Given the description of an element on the screen output the (x, y) to click on. 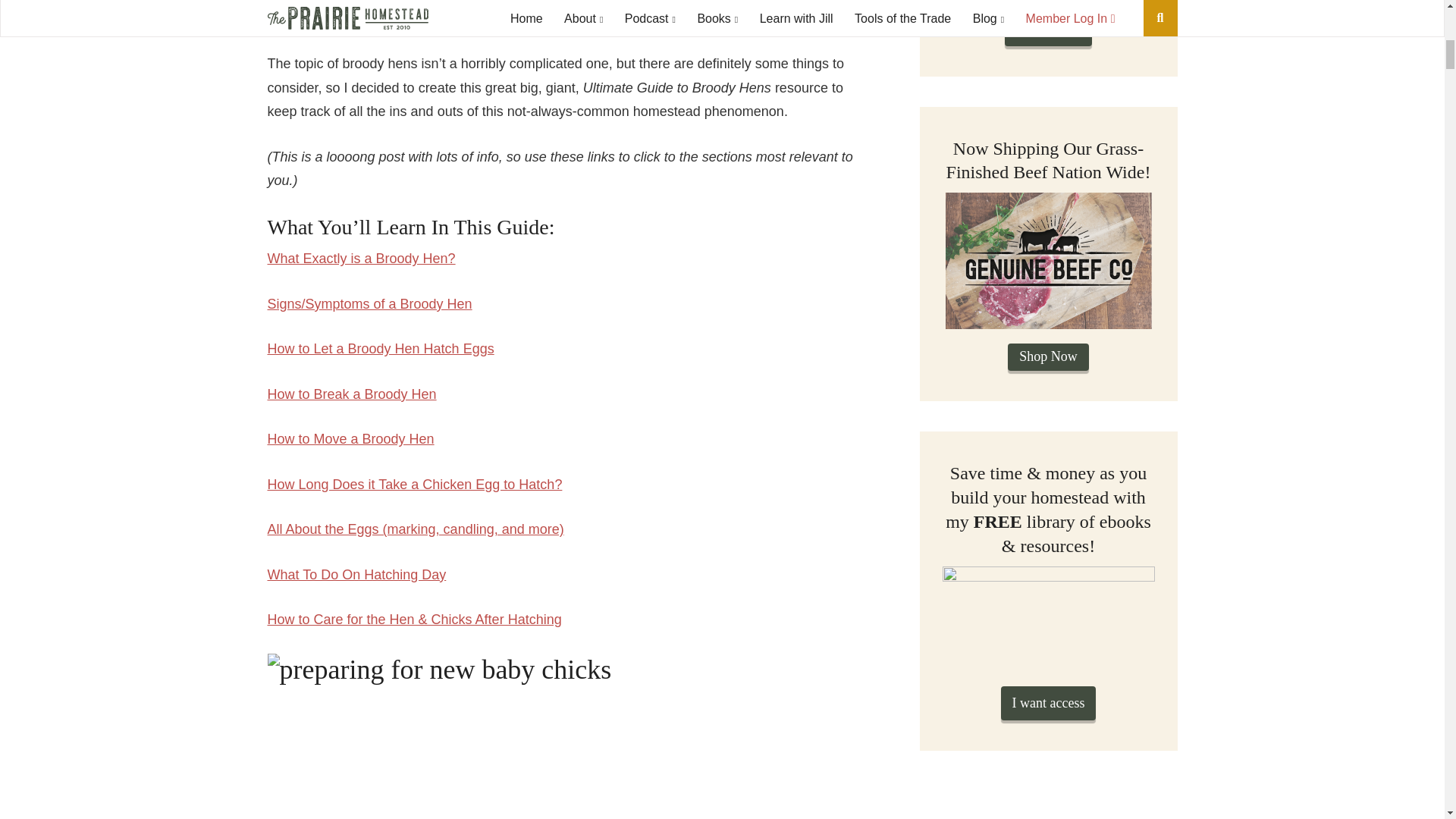
What Exactly is a Broody Hen? (360, 258)
How to Break a Broody Hen (350, 394)
How to Move a Broody Hen (349, 438)
How Long Does it Take a Chicken Egg to Hatch? (414, 484)
What To Do On Hatching Day (355, 574)
How to Let a Broody Hen Hatch Eggs (379, 348)
